Given the description of an element on the screen output the (x, y) to click on. 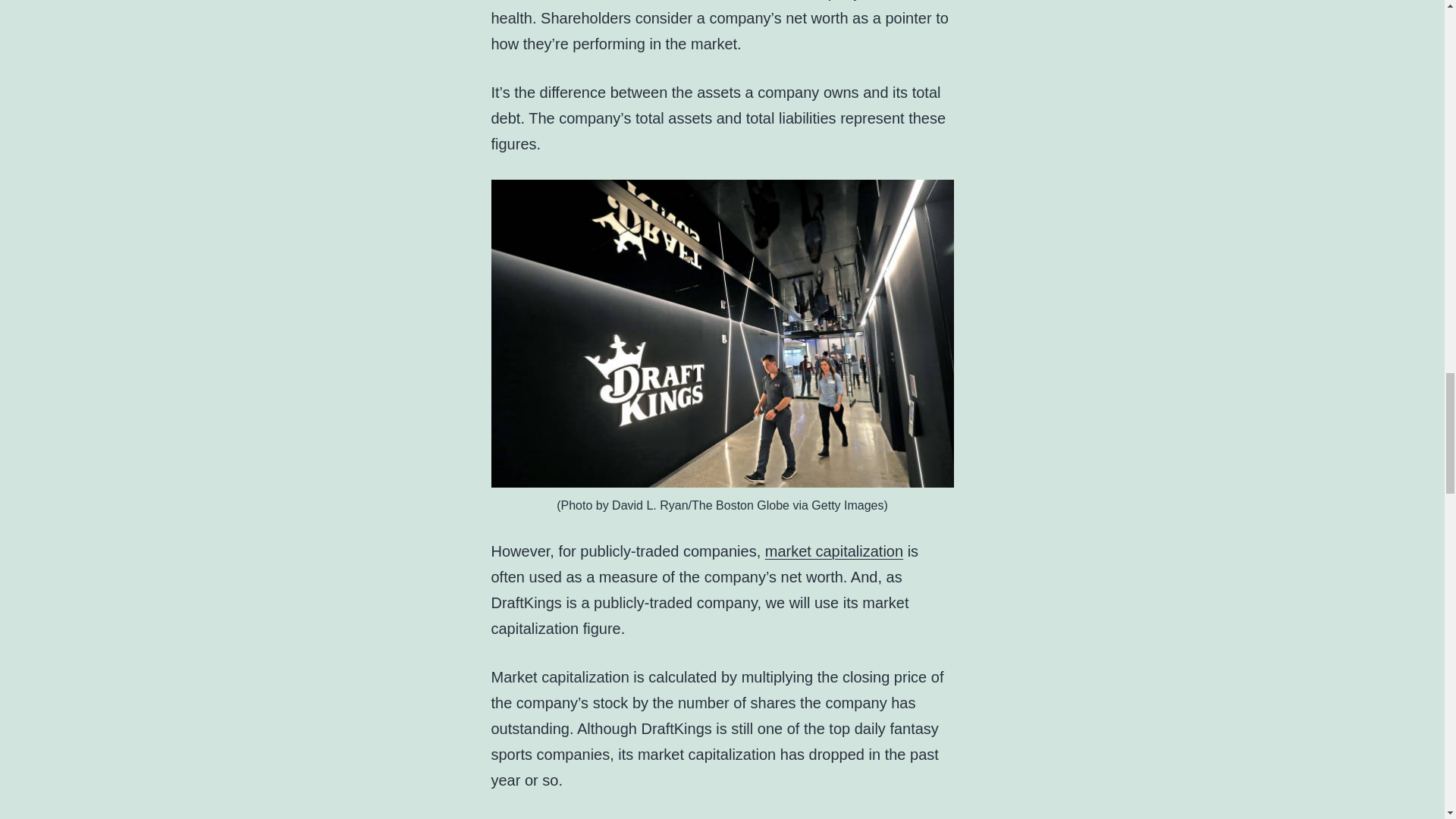
market capitalization (833, 550)
